Given the description of an element on the screen output the (x, y) to click on. 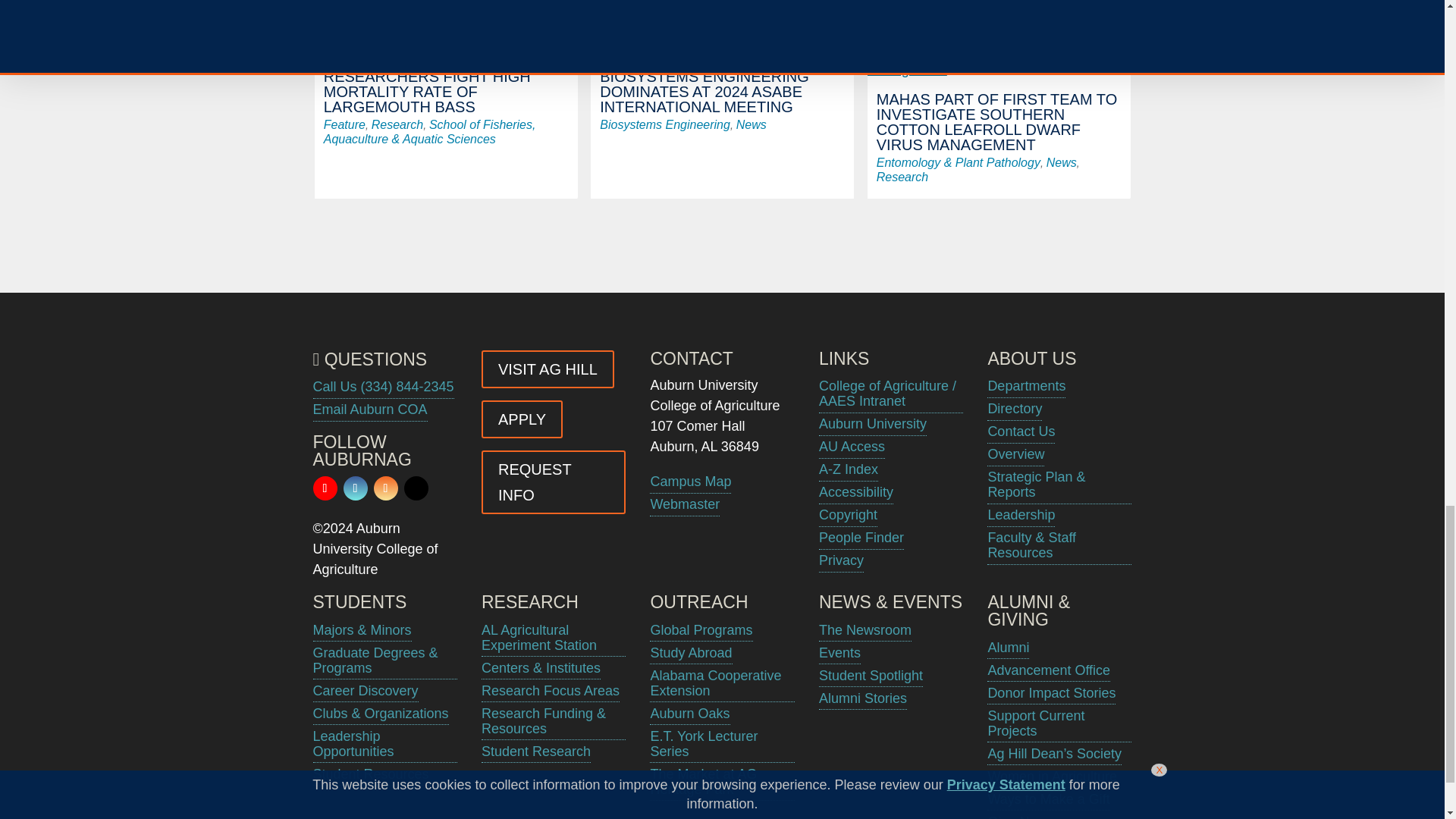
General Email for Auburn University College of Agriculture (369, 409)
Follow on Instagram (384, 487)
Follow on Facebook (354, 487)
Follow on X (415, 487)
Follow on Youtube (324, 487)
